Given the description of an element on the screen output the (x, y) to click on. 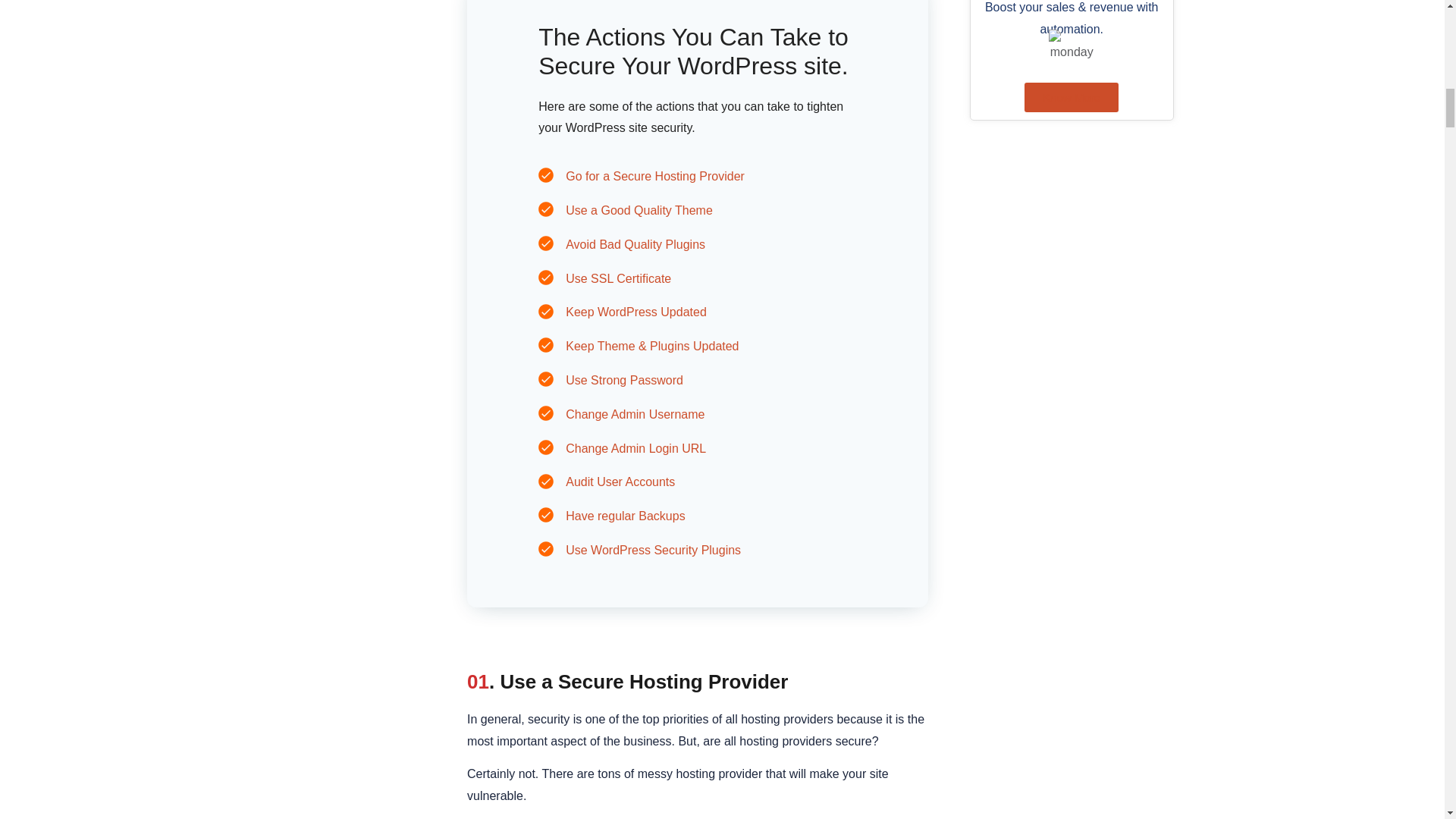
Keep WordPress Updated (636, 311)
Have regular Backups (625, 515)
Audit User Accounts (620, 481)
Use Strong Password (624, 379)
Use WordPress Security Plugins (653, 549)
Change Admin Username (635, 413)
Go for a Secure Hosting Provider (655, 175)
Use a Good Quality Theme (639, 210)
Avoid Bad Quality Plugins (635, 244)
Use SSL Certificate (618, 278)
